Given the description of an element on the screen output the (x, y) to click on. 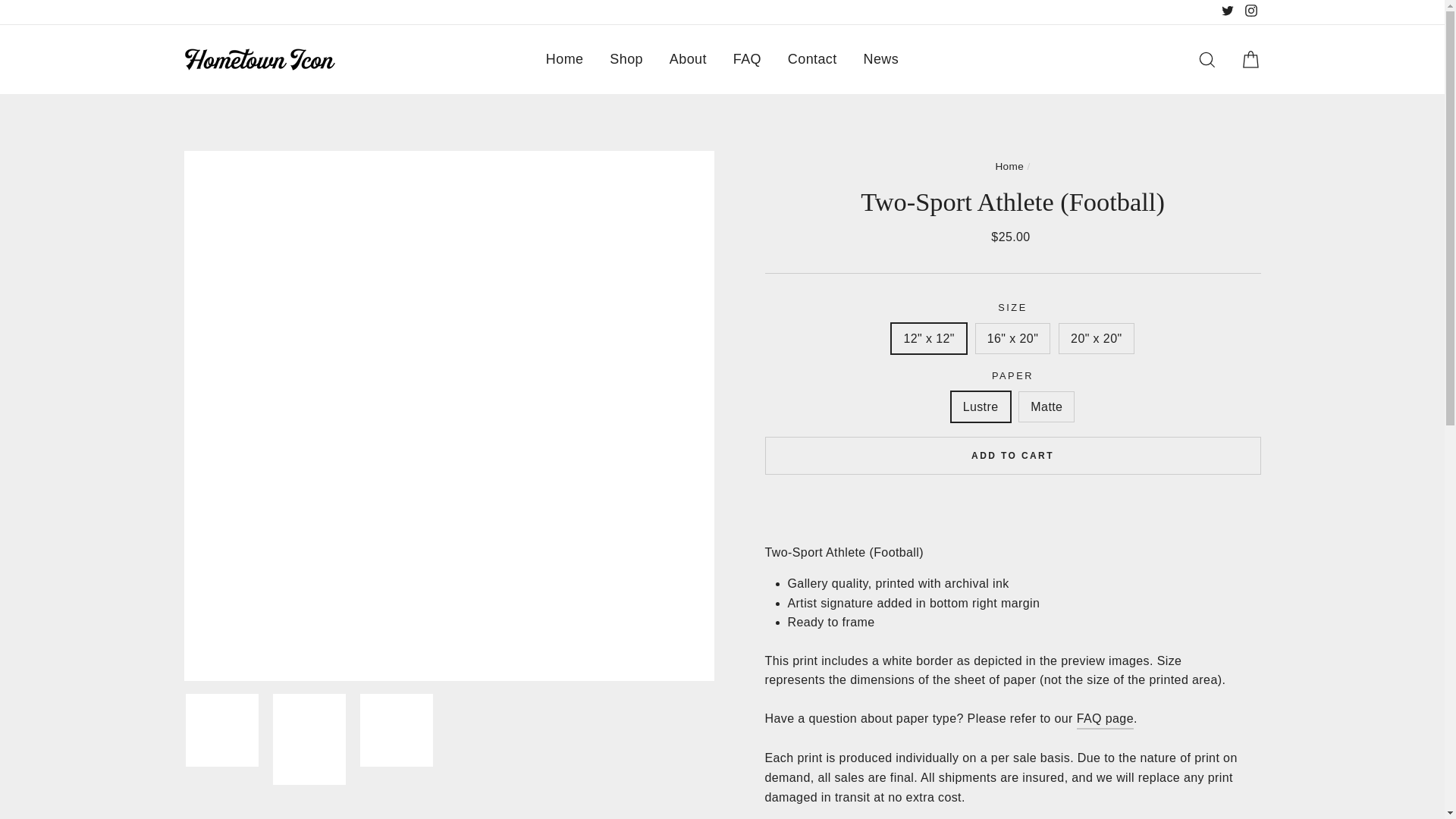
Cart (1249, 59)
Back to the frontpage (1008, 165)
Contact (812, 59)
FAQ (1105, 719)
FAQ page (1105, 719)
FAQ (747, 59)
News (881, 59)
ADD TO CART (1012, 455)
Shop (625, 59)
About (687, 59)
Search (1207, 59)
Home (564, 59)
